Given the description of an element on the screen output the (x, y) to click on. 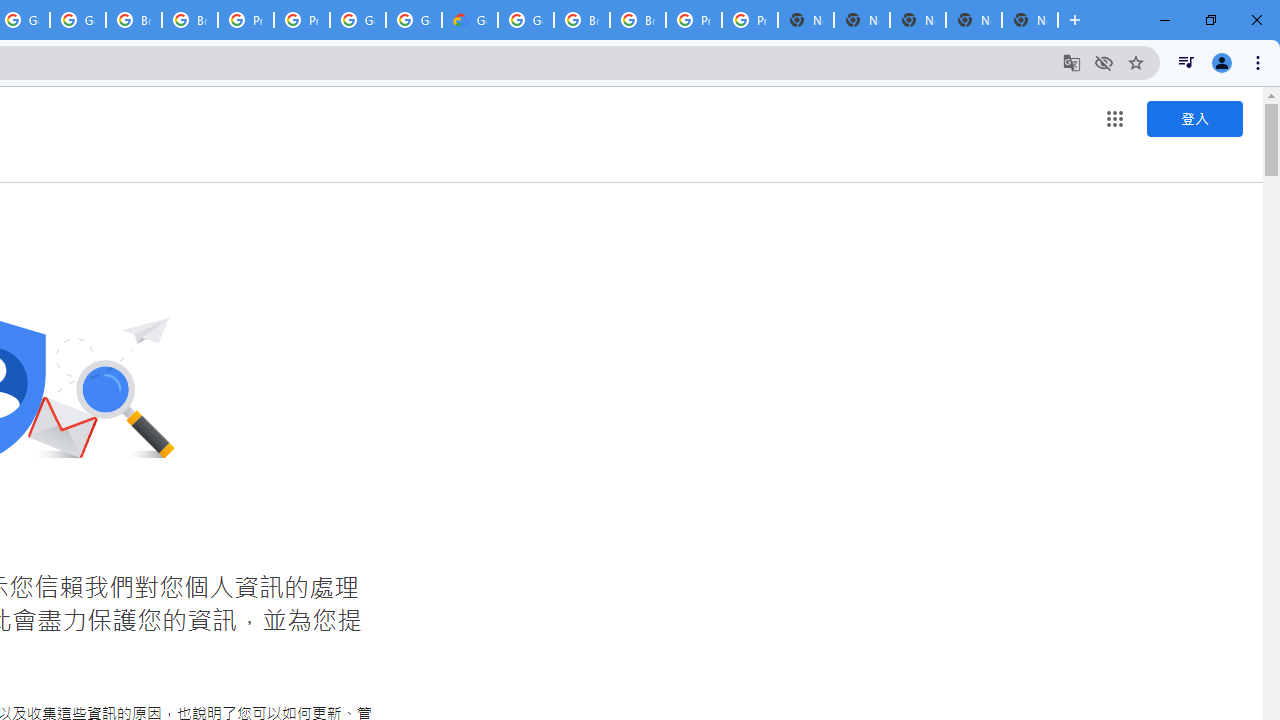
Browse Chrome as a guest - Computer - Google Chrome Help (582, 20)
Google Cloud Platform (413, 20)
Google Cloud Platform (525, 20)
New Tab (1030, 20)
